Given the description of an element on the screen output the (x, y) to click on. 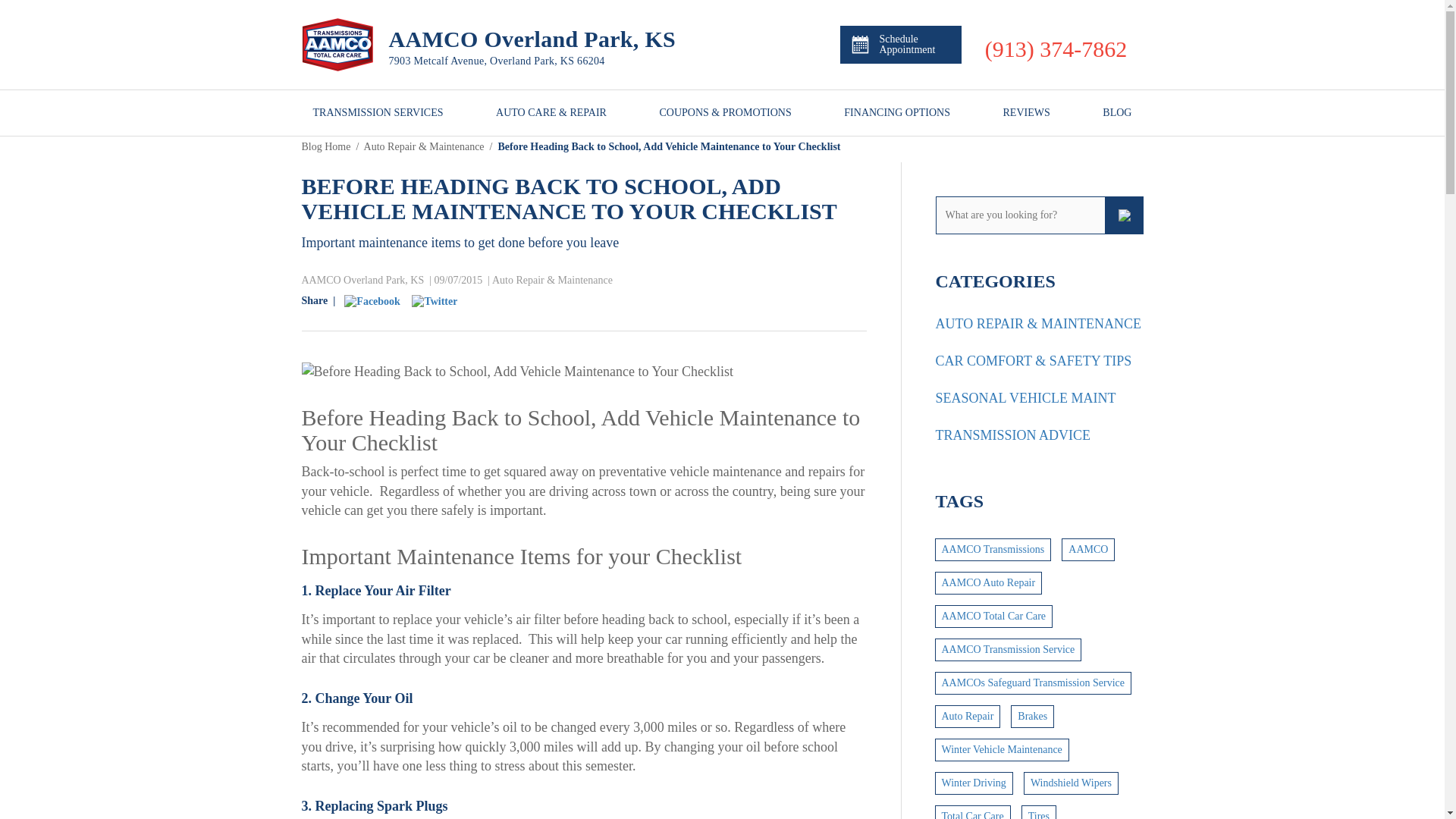
REVIEWS (1026, 112)
Schedule Appointment (900, 44)
FINANCING OPTIONS (897, 112)
TRANSMISSION SERVICES (377, 112)
